Given the description of an element on the screen output the (x, y) to click on. 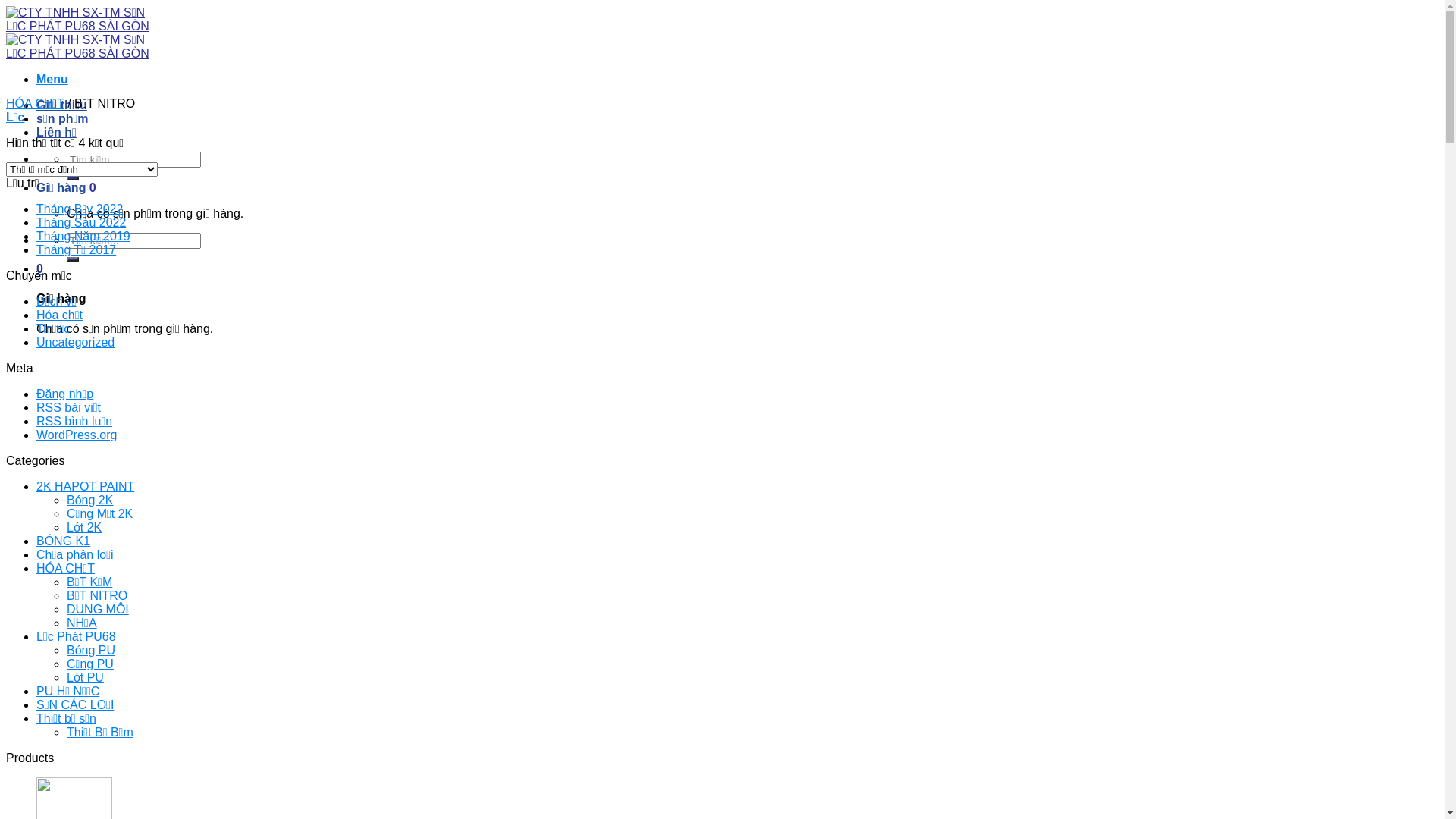
Uncategorized Element type: text (75, 341)
2K HAPOT PAINT Element type: text (85, 486)
WordPress.org Element type: text (76, 434)
0 Element type: text (39, 268)
Menu Element type: text (52, 78)
Skip to content Element type: text (5, 5)
